Given the description of an element on the screen output the (x, y) to click on. 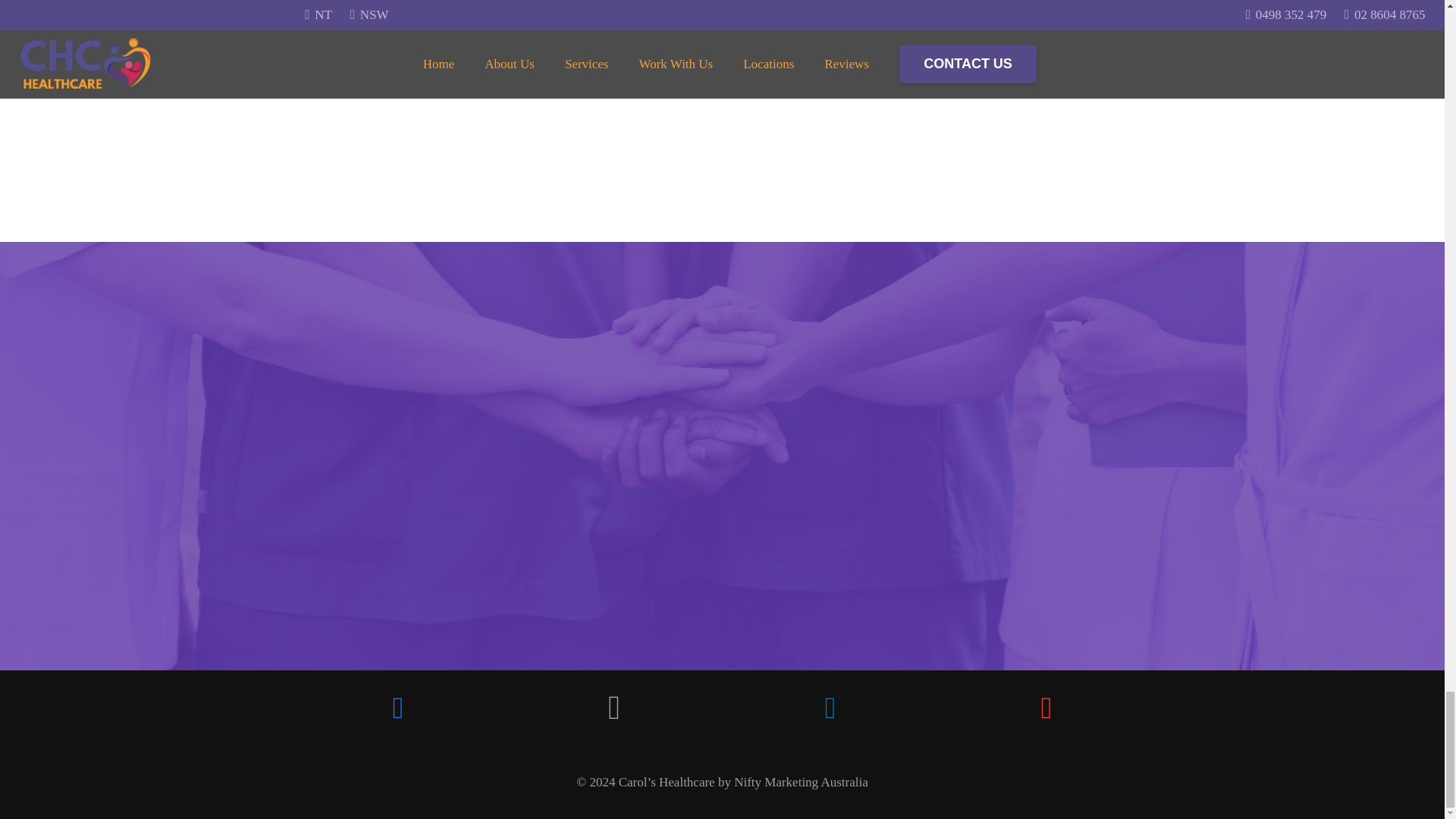
Google (1046, 708)
LinkedIn (829, 708)
Facebook (397, 708)
Instagram (614, 708)
